Given the description of an element on the screen output the (x, y) to click on. 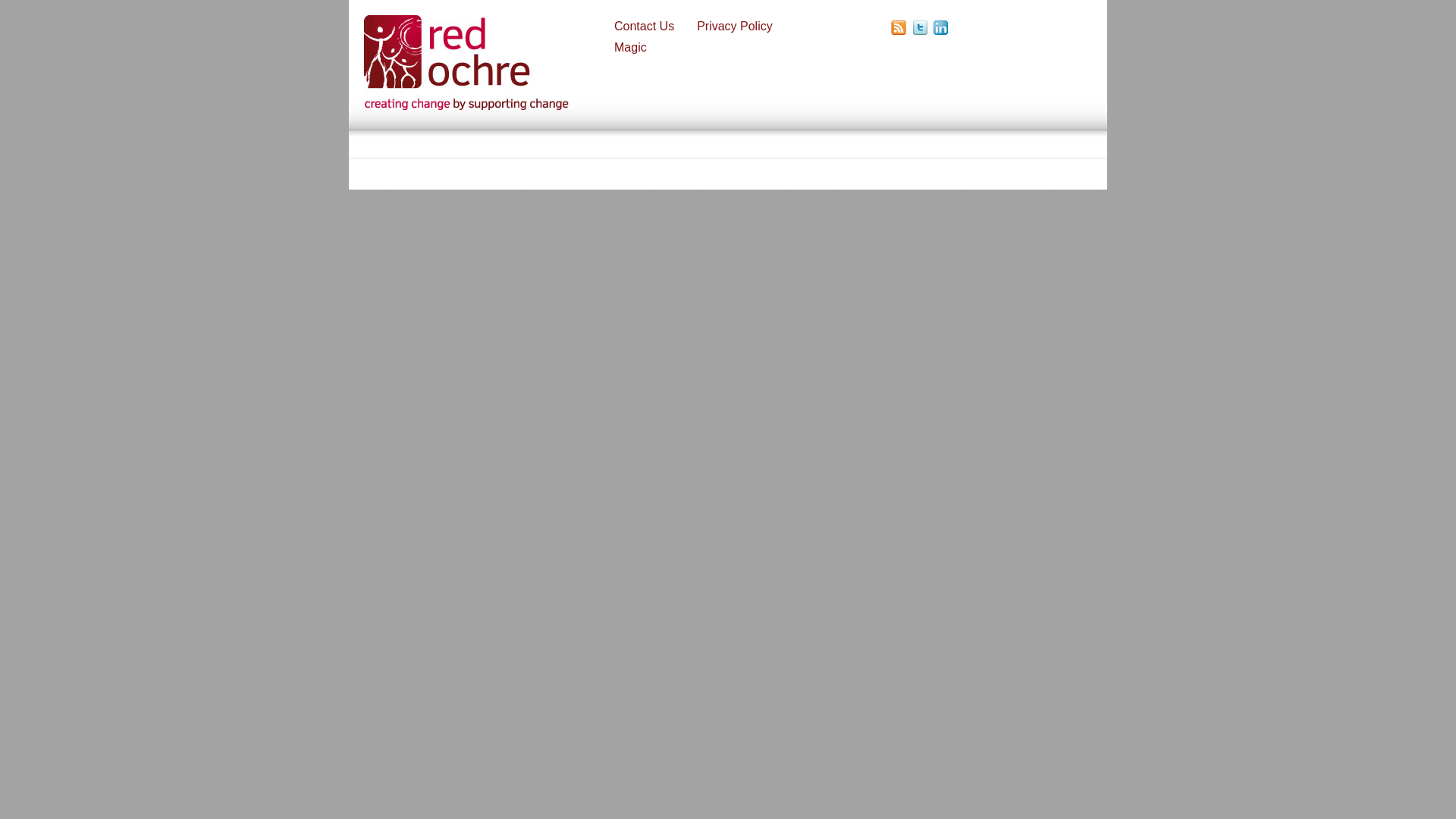
Magic (630, 47)
Red Ochre (459, 102)
Privacy Policy (735, 25)
Contact Us (644, 25)
